Given the description of an element on the screen output the (x, y) to click on. 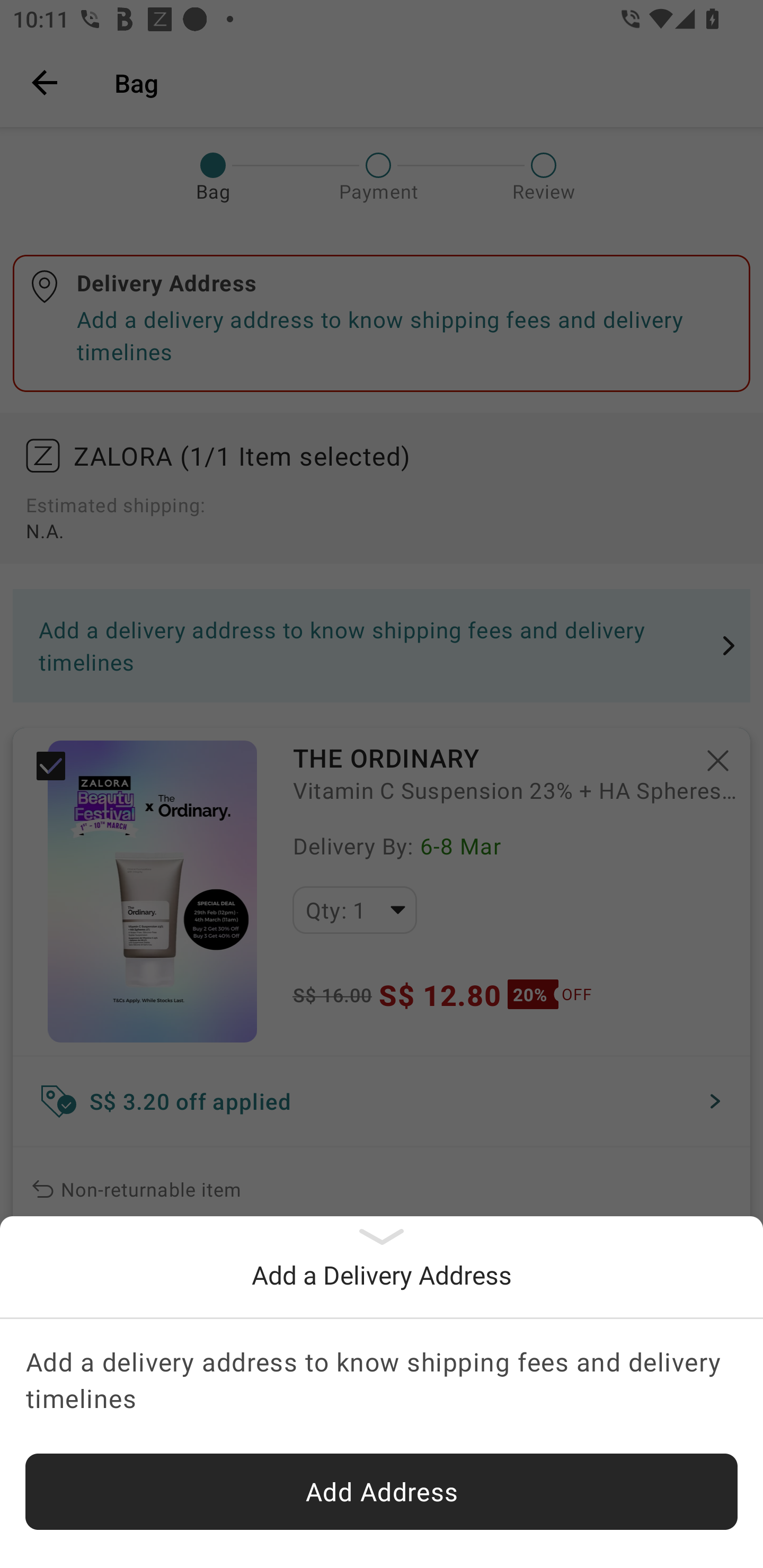
Add Address (381, 1491)
